Given the description of an element on the screen output the (x, y) to click on. 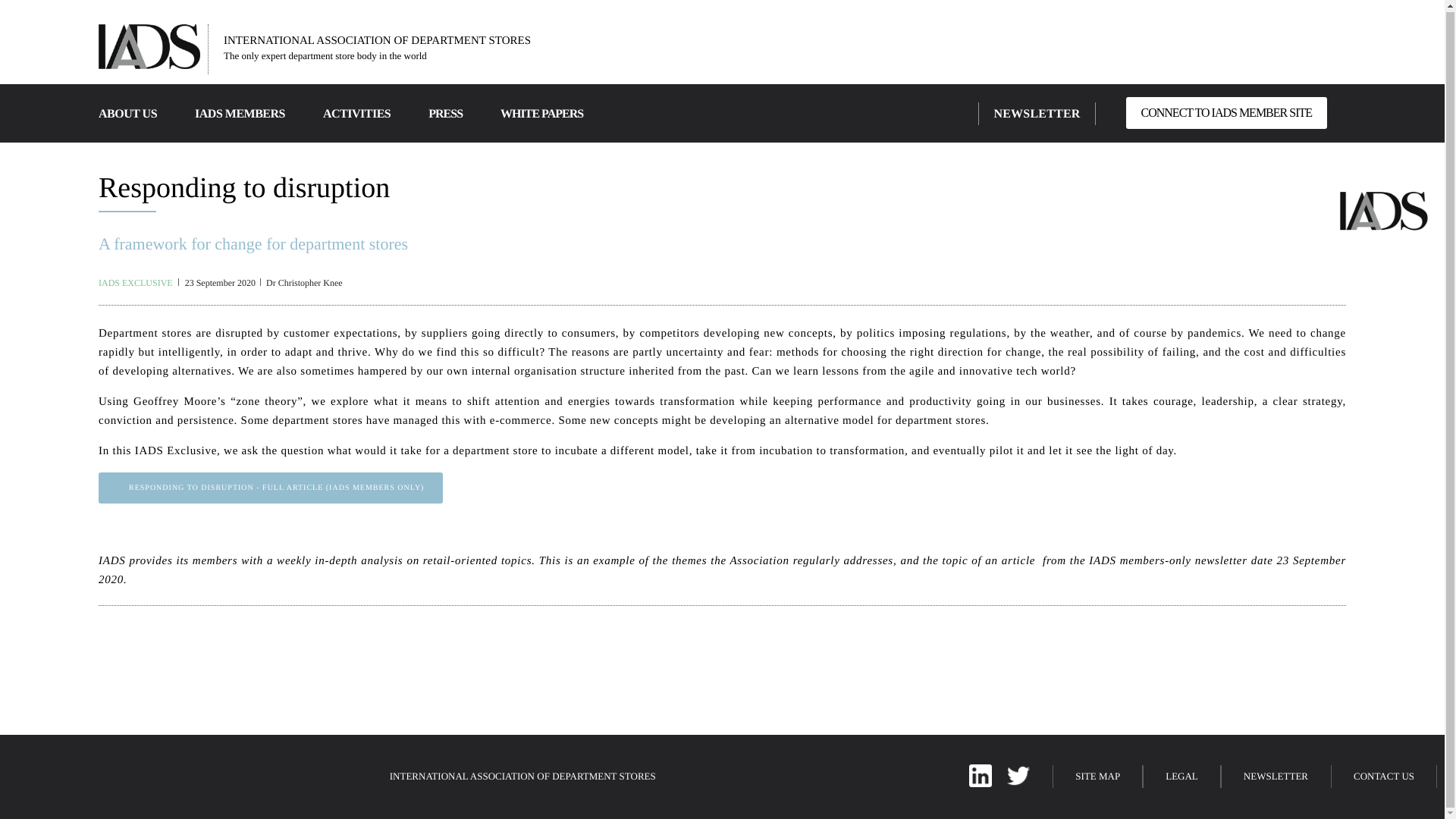
NEWSLETTER (1036, 113)
CONNECT TO IADS MEMBER SITE (1225, 112)
PRESS (445, 113)
WHITE PAPERS (541, 113)
